Given the description of an element on the screen output the (x, y) to click on. 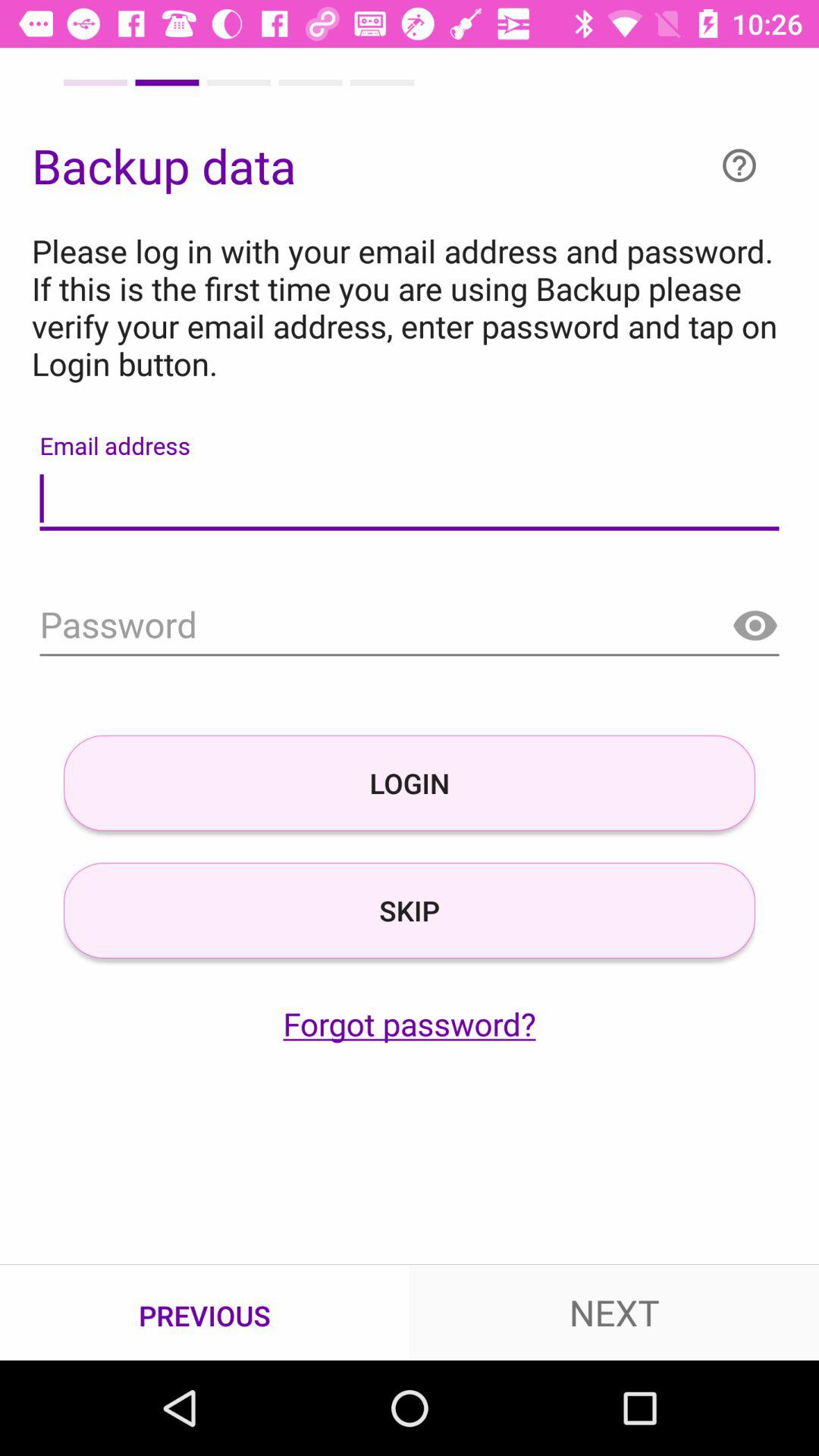
enter email address (409, 499)
